Given the description of an element on the screen output the (x, y) to click on. 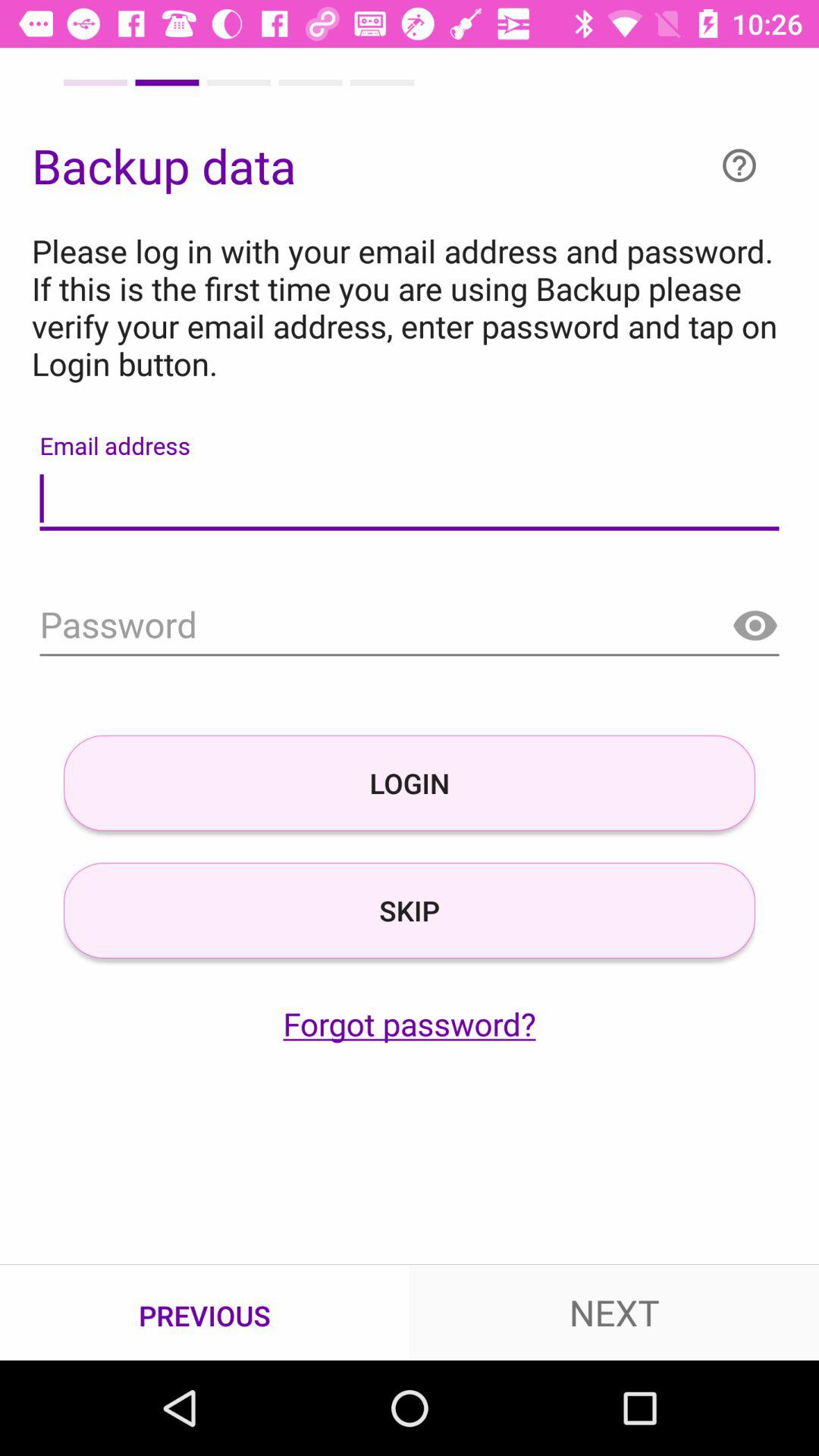
enter email address (409, 499)
